Given the description of an element on the screen output the (x, y) to click on. 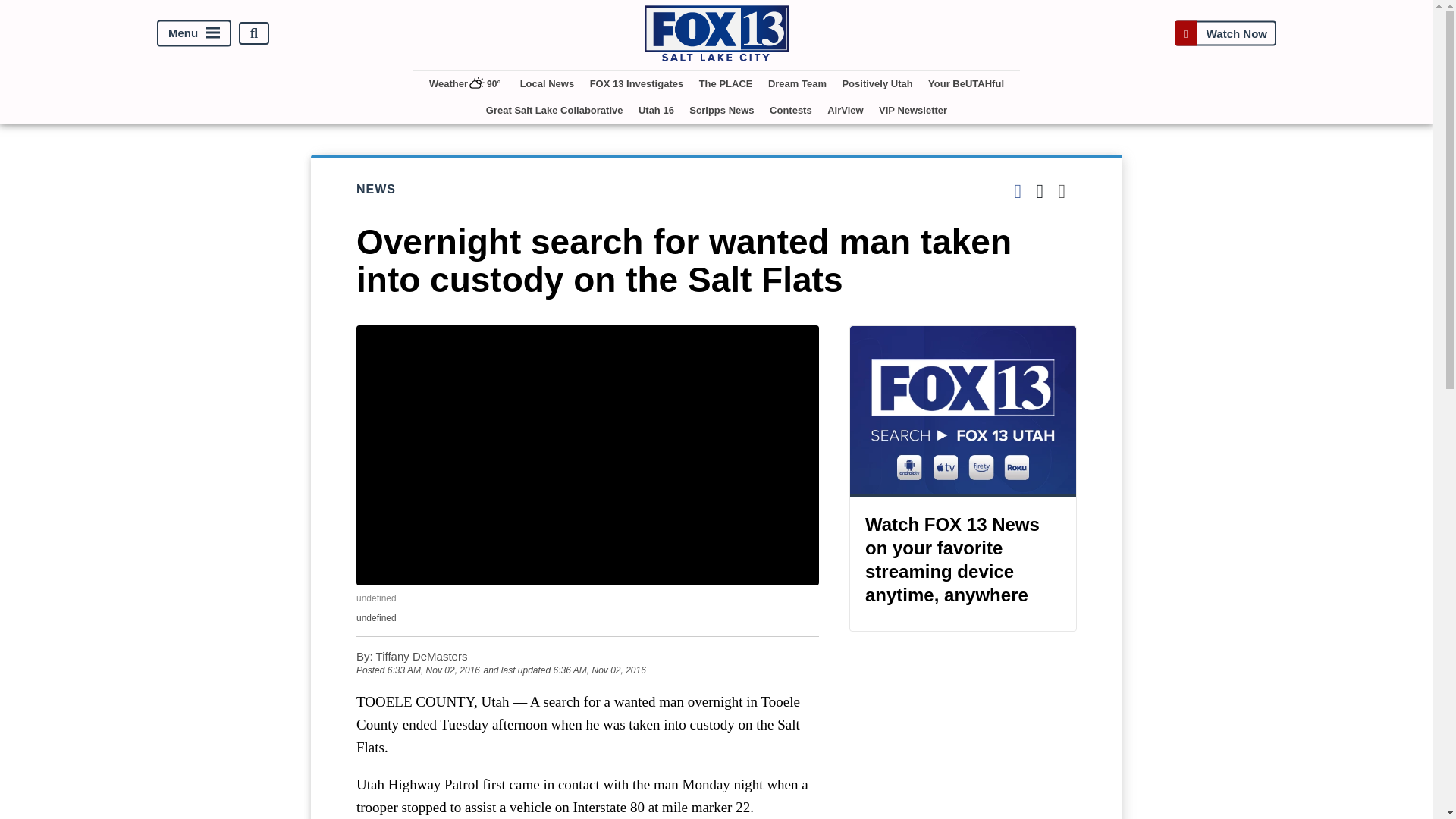
Menu (194, 33)
Watch Now (1224, 33)
